Given the description of an element on the screen output the (x, y) to click on. 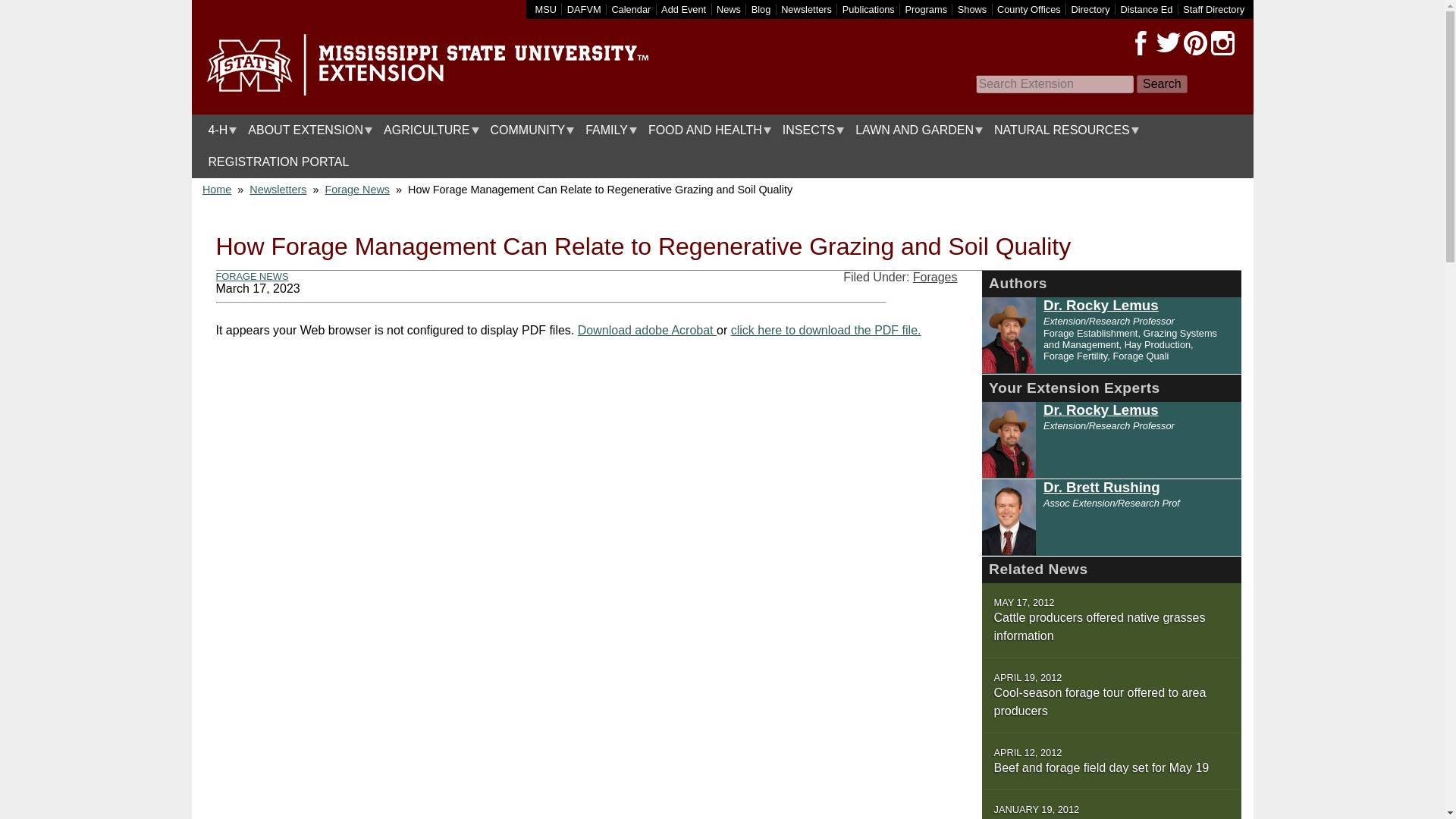
Calendar (630, 9)
Staff Directory (1213, 9)
News (728, 9)
Programs (926, 9)
Pinterest (1194, 43)
Facebook (1140, 43)
List of Extension Programs (926, 9)
County Offices (1029, 9)
Blog (761, 9)
Link to Mississippi State University (545, 9)
MSU (545, 9)
4-H (218, 130)
